Given the description of an element on the screen output the (x, y) to click on. 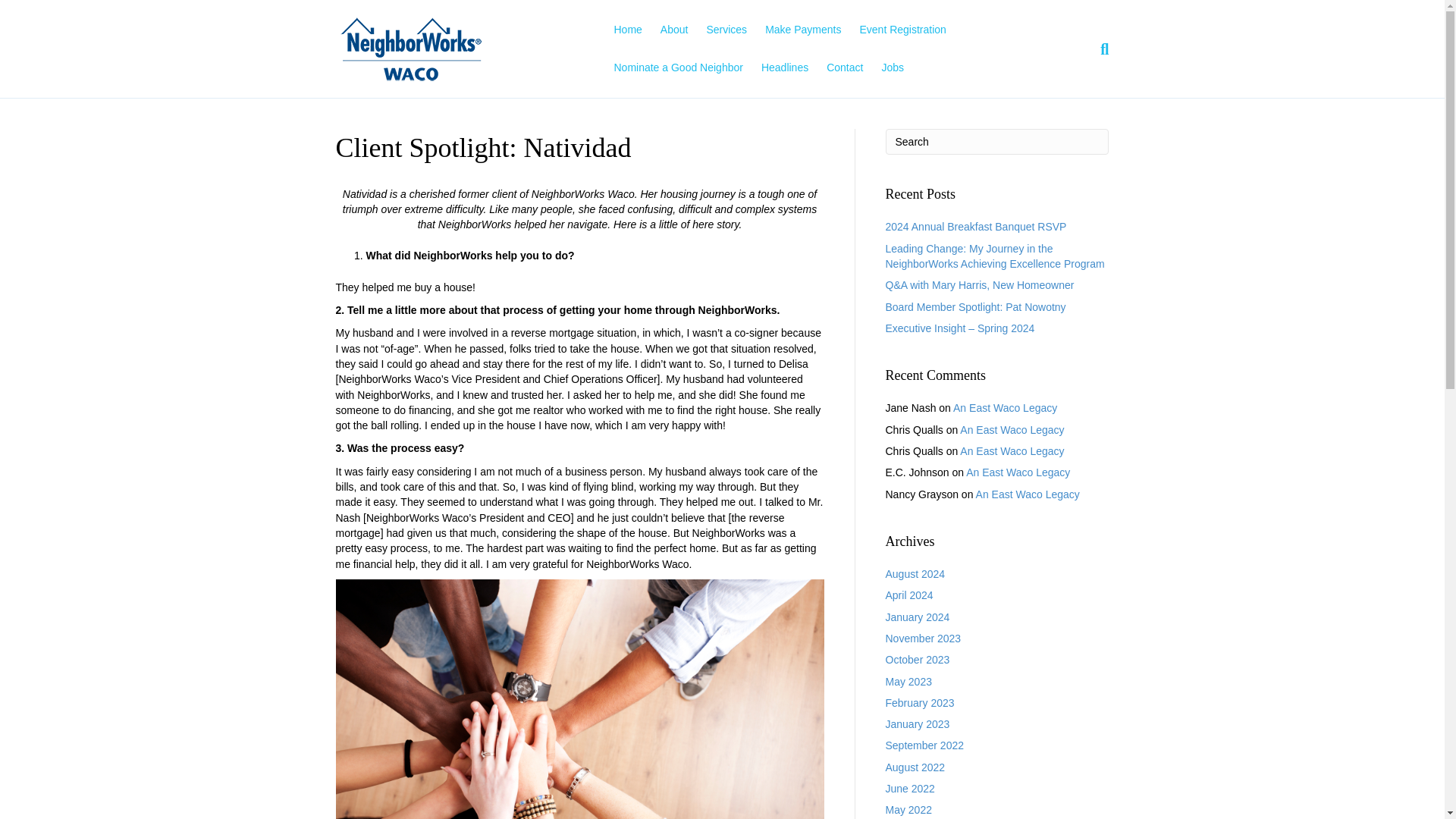
Event Registration (902, 30)
Board Member Spotlight: Pat Nowotny (975, 306)
Type and press Enter to search. (997, 141)
October 2023 (917, 659)
Services (726, 30)
Headlines (784, 67)
About (673, 30)
August 2022 (914, 767)
2024 Annual Breakfast Banquet RSVP (976, 226)
Search (997, 141)
